Given the description of an element on the screen output the (x, y) to click on. 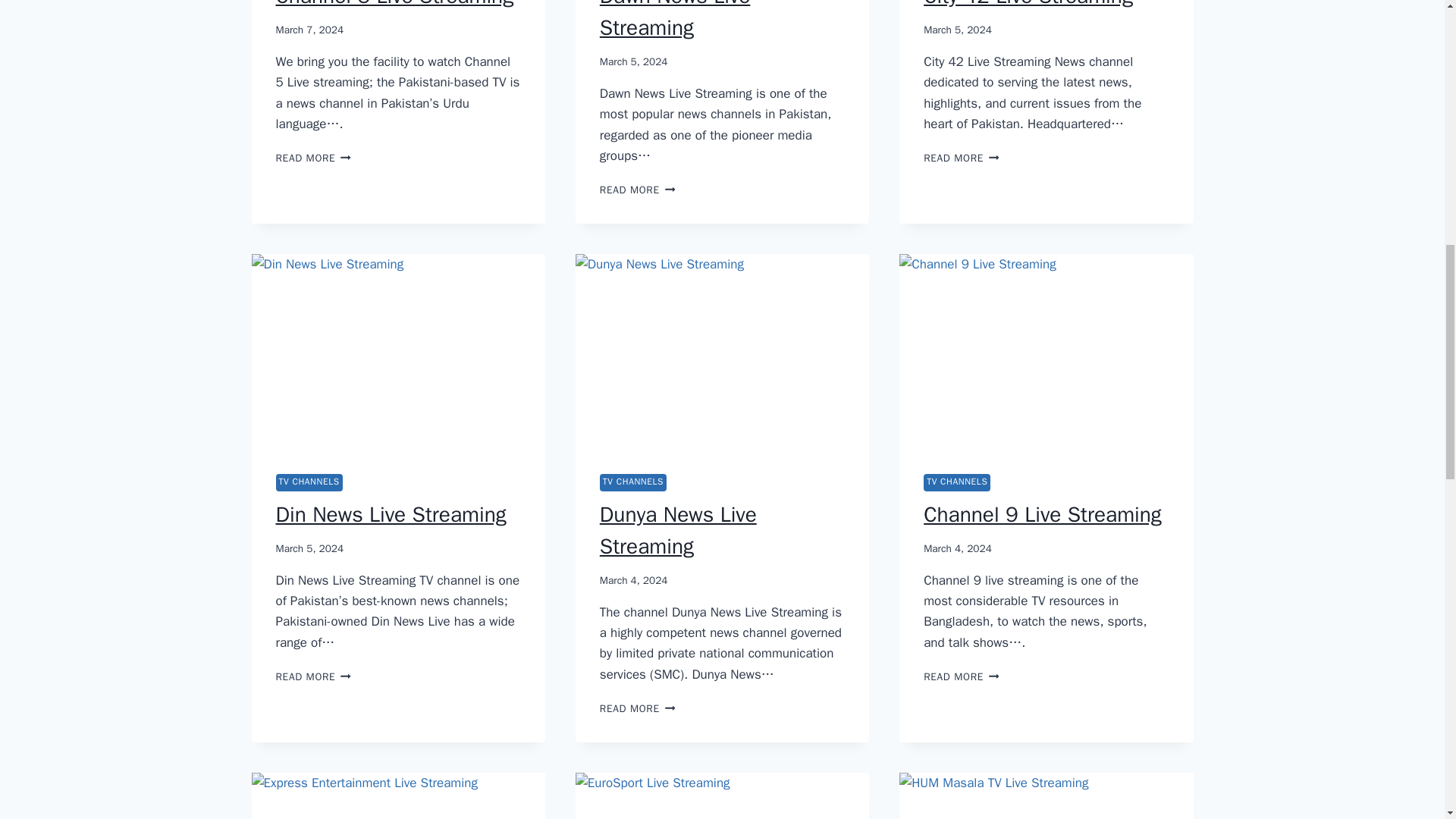
TV CHANNELS (313, 676)
Din News Live Streaming (309, 482)
Channel 9 Live Streaming (960, 157)
Channel 5 Live Streaming (391, 514)
Dawn News Live Streaming (1042, 514)
City 42 Live Streaming (637, 189)
TV CHANNELS (394, 4)
TV CHANNELS (313, 157)
Dunya News Live Streaming (675, 20)
